Given the description of an element on the screen output the (x, y) to click on. 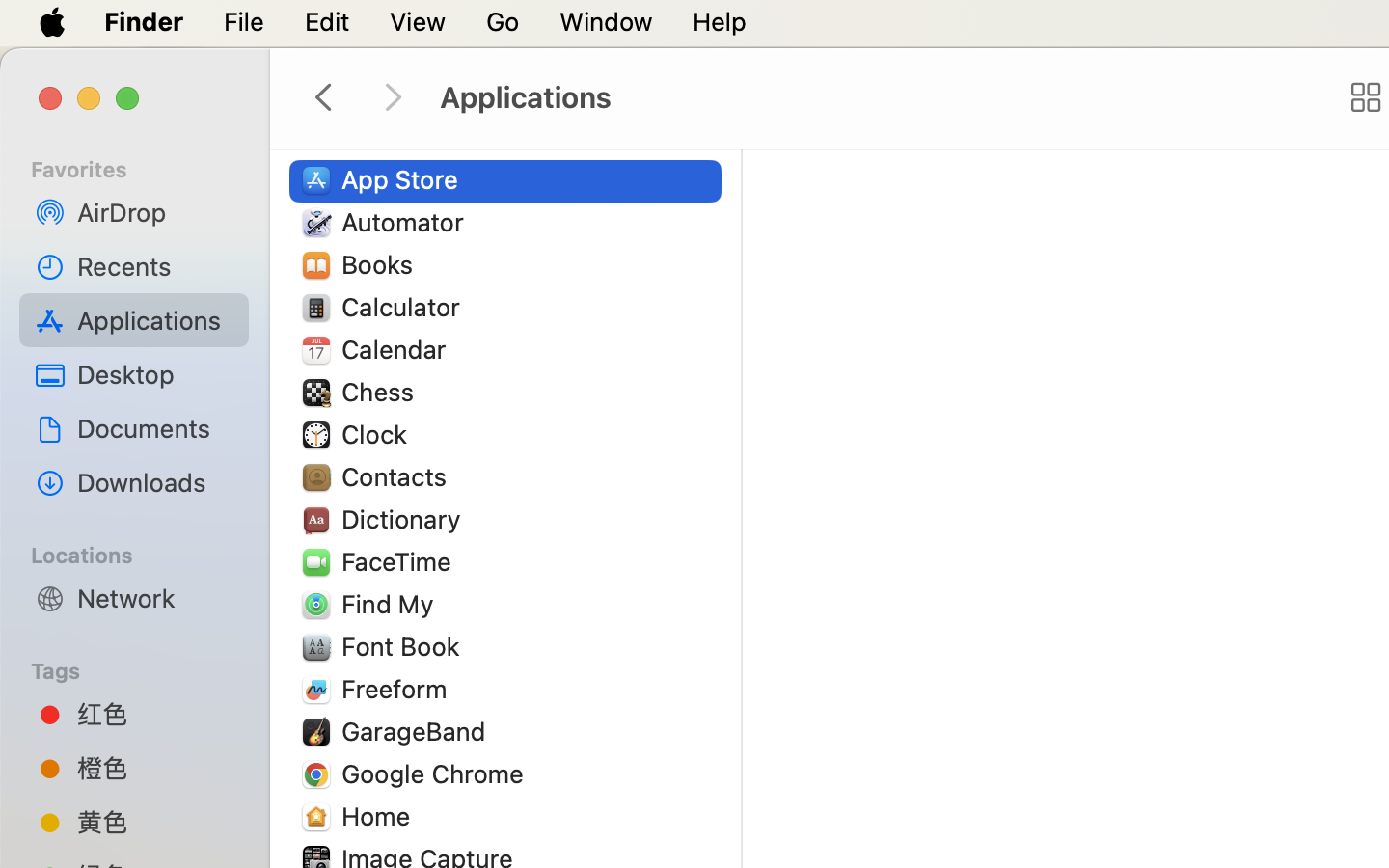
Recents Element type: AXStaticText (155, 265)
Locations Element type: AXStaticText (145, 552)
Desktop Element type: AXStaticText (155, 373)
Tags Element type: AXStaticText (145, 668)
Applications Element type: AXStaticText (875, 98)
